Given the description of an element on the screen output the (x, y) to click on. 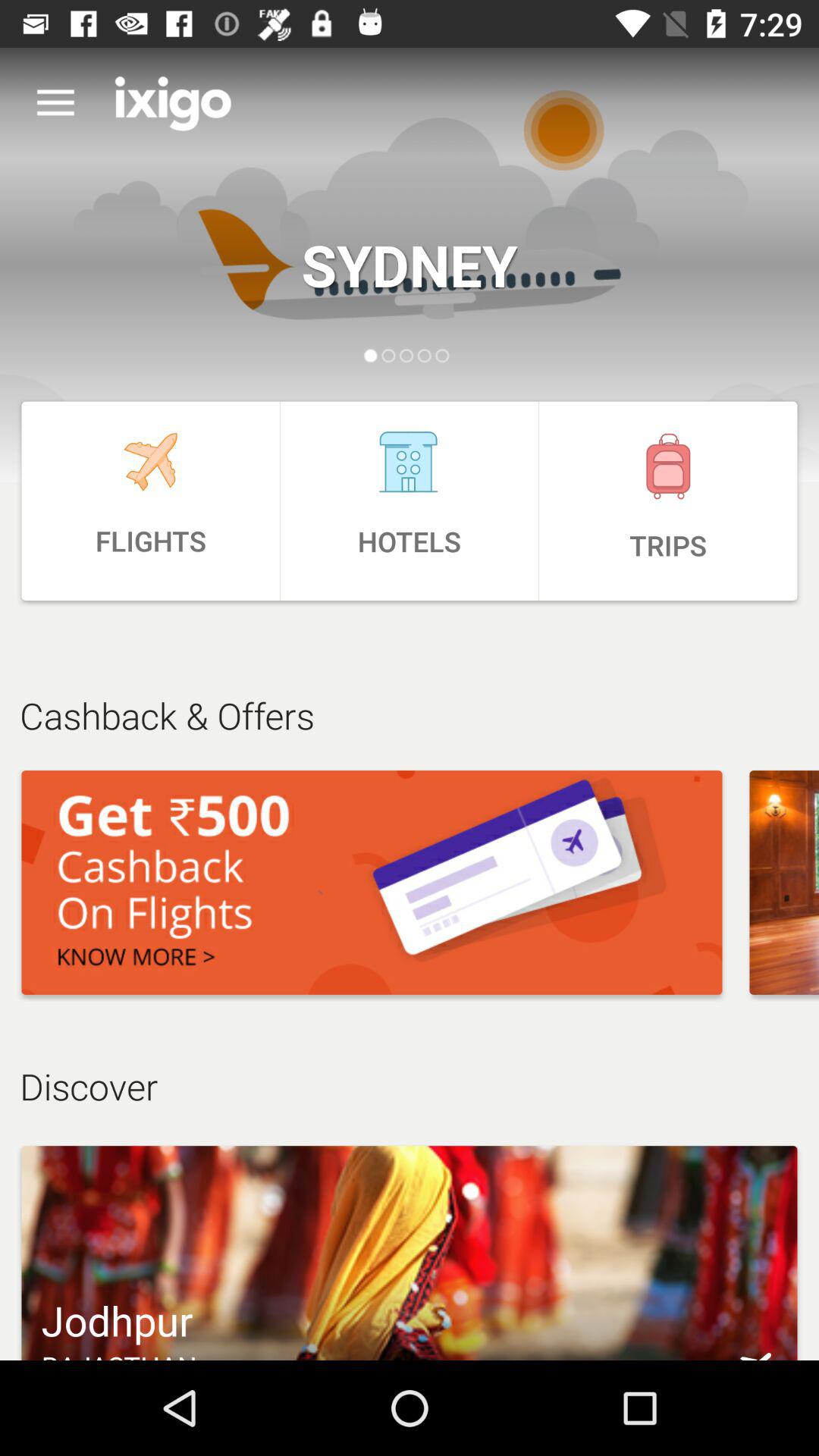
select the icon above the cashback & offers item (668, 500)
